Given the description of an element on the screen output the (x, y) to click on. 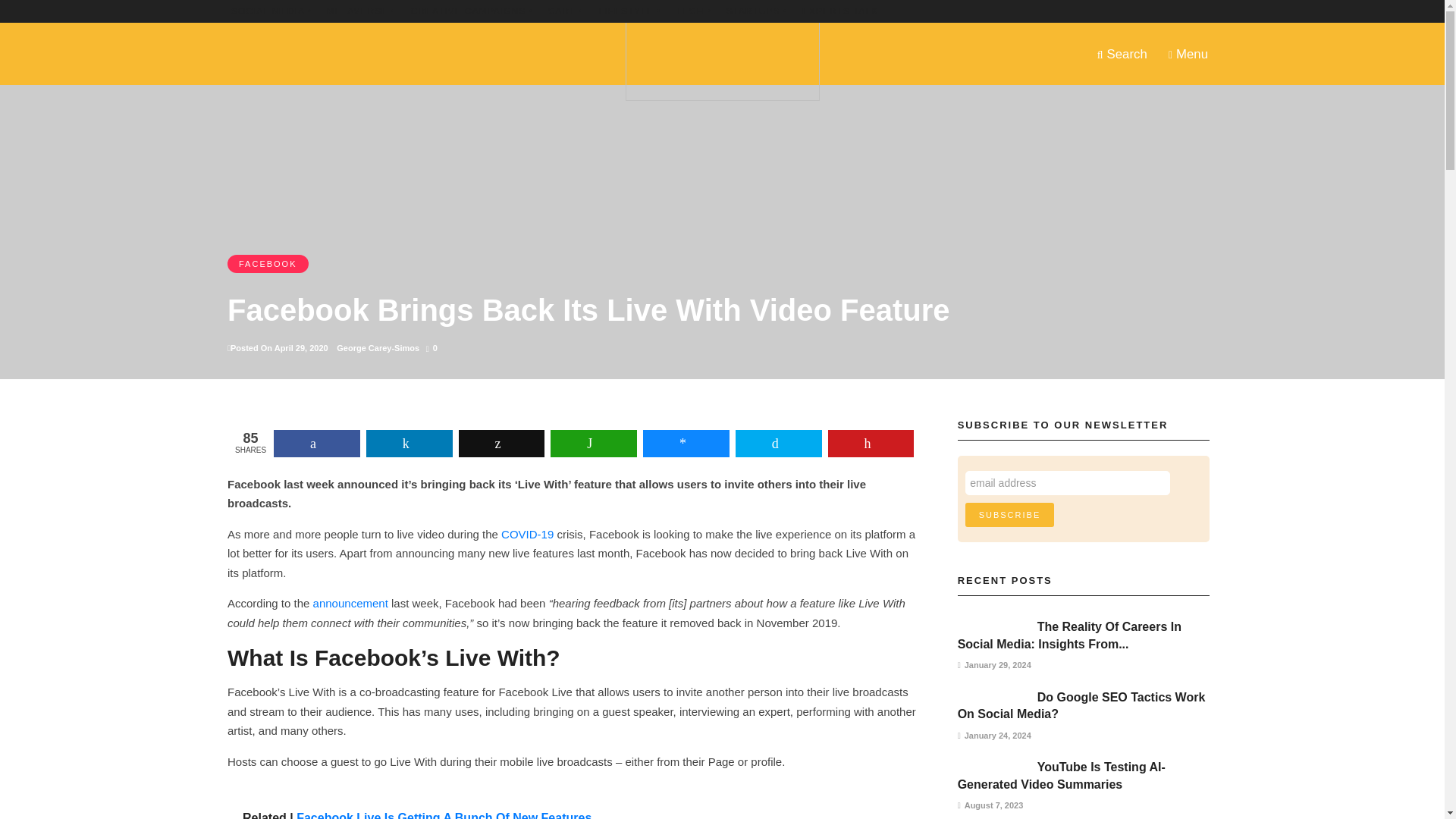
Search (1121, 53)
Share on - (871, 443)
top-bar (471, 10)
George Carey-Simos (377, 347)
Subscribe (1009, 514)
top-bar (839, 10)
FACEBOOK (267, 263)
top-bar (565, 10)
Share on - (501, 443)
top-bar (692, 10)
Menu (1187, 53)
Share on - (316, 443)
EXPERTS TALK (839, 10)
Share on - (778, 443)
top-bar (629, 10)
